Given the description of an element on the screen output the (x, y) to click on. 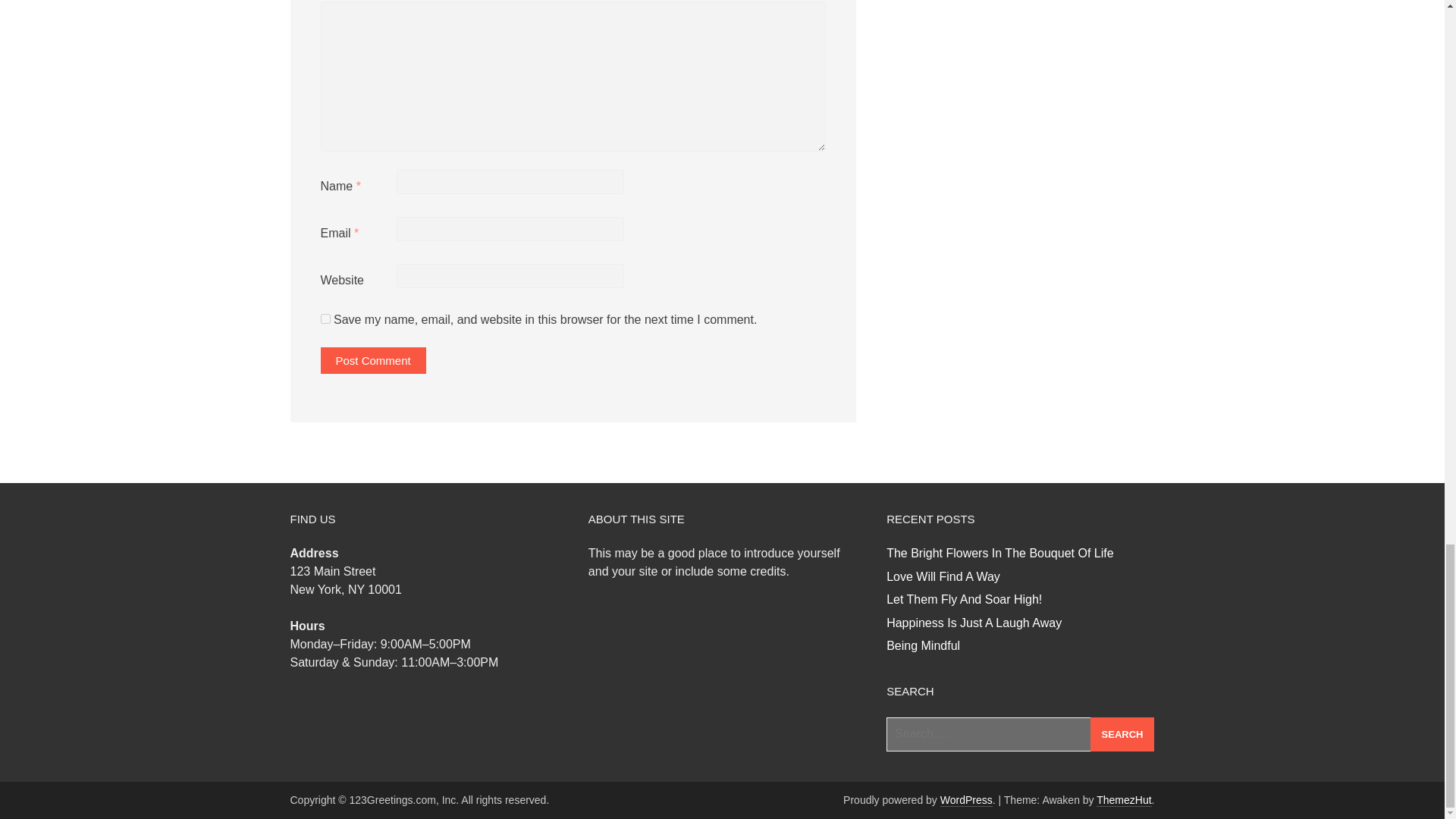
yes (325, 318)
WordPress (966, 799)
Post Comment (372, 360)
Search (1122, 734)
Post Comment (372, 360)
Search (1122, 734)
